Given the description of an element on the screen output the (x, y) to click on. 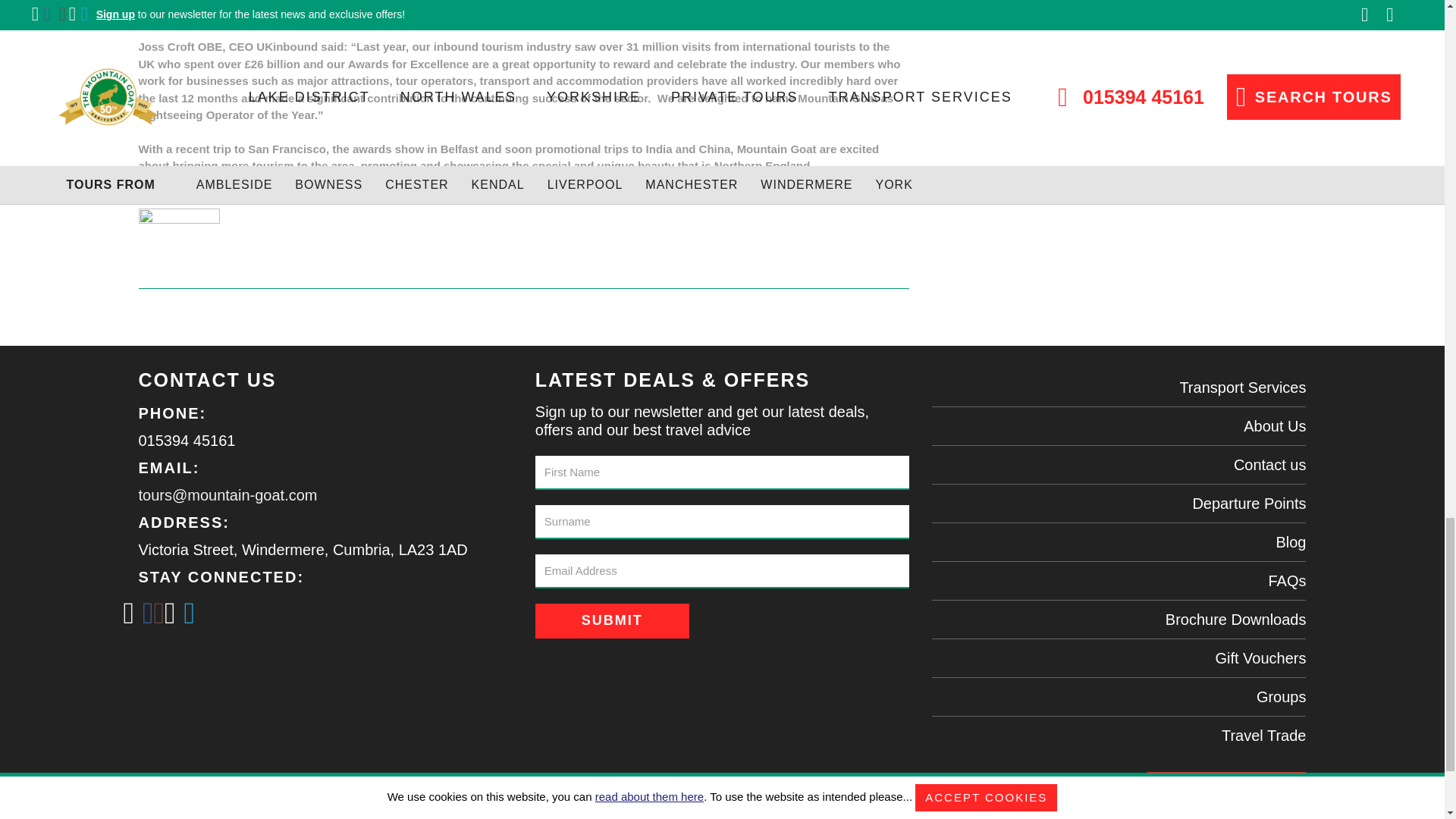
Submit (611, 620)
